Given the description of an element on the screen output the (x, y) to click on. 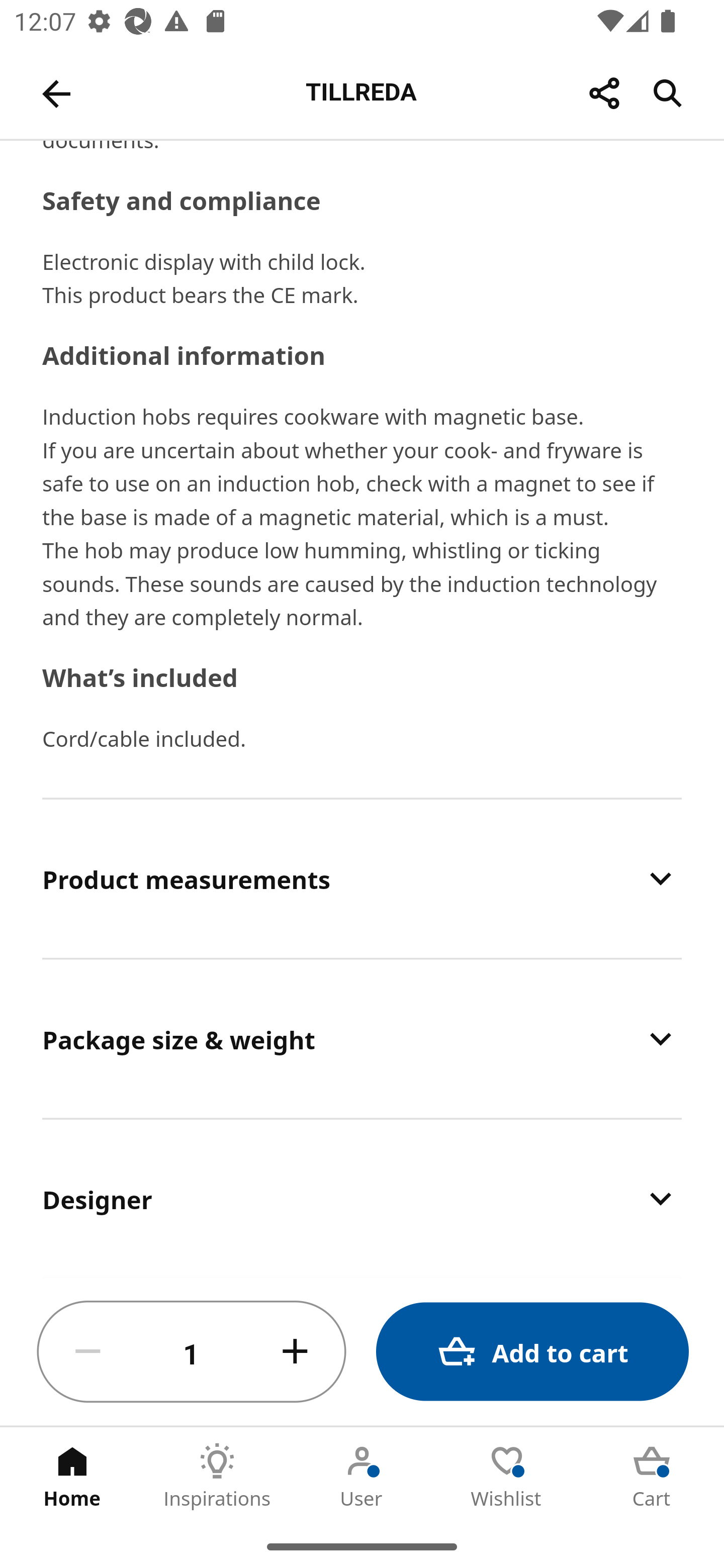
Product measurements (361, 878)
Package size & weight (361, 1038)
Designer (361, 1198)
Add to cart (531, 1352)
1 (191, 1352)
Home
Tab 1 of 5 (72, 1476)
Inspirations
Tab 2 of 5 (216, 1476)
User
Tab 3 of 5 (361, 1476)
Wishlist
Tab 4 of 5 (506, 1476)
Cart
Tab 5 of 5 (651, 1476)
